Given the description of an element on the screen output the (x, y) to click on. 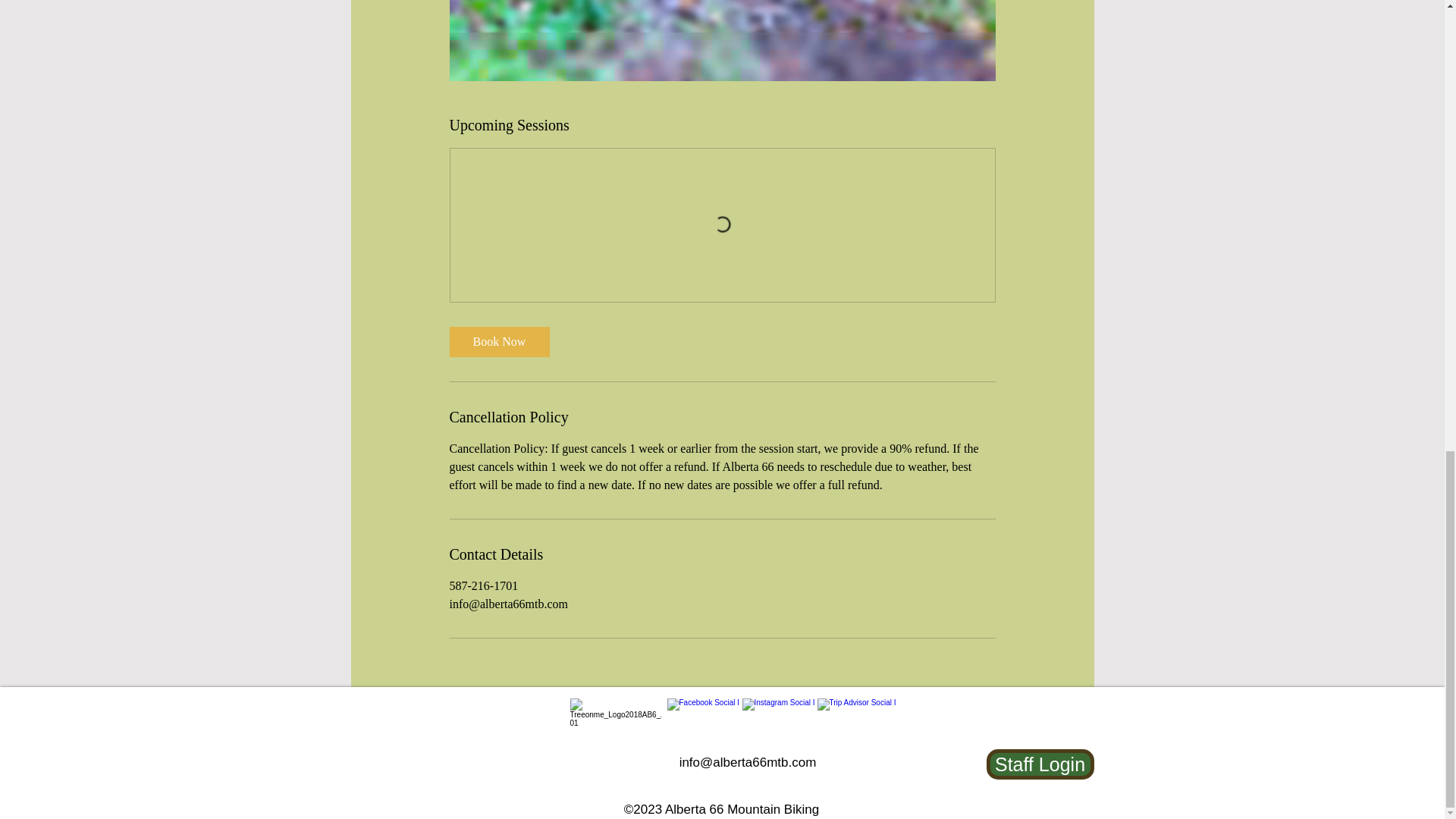
Book Now (498, 341)
Staff Login (1039, 764)
